Given the description of an element on the screen output the (x, y) to click on. 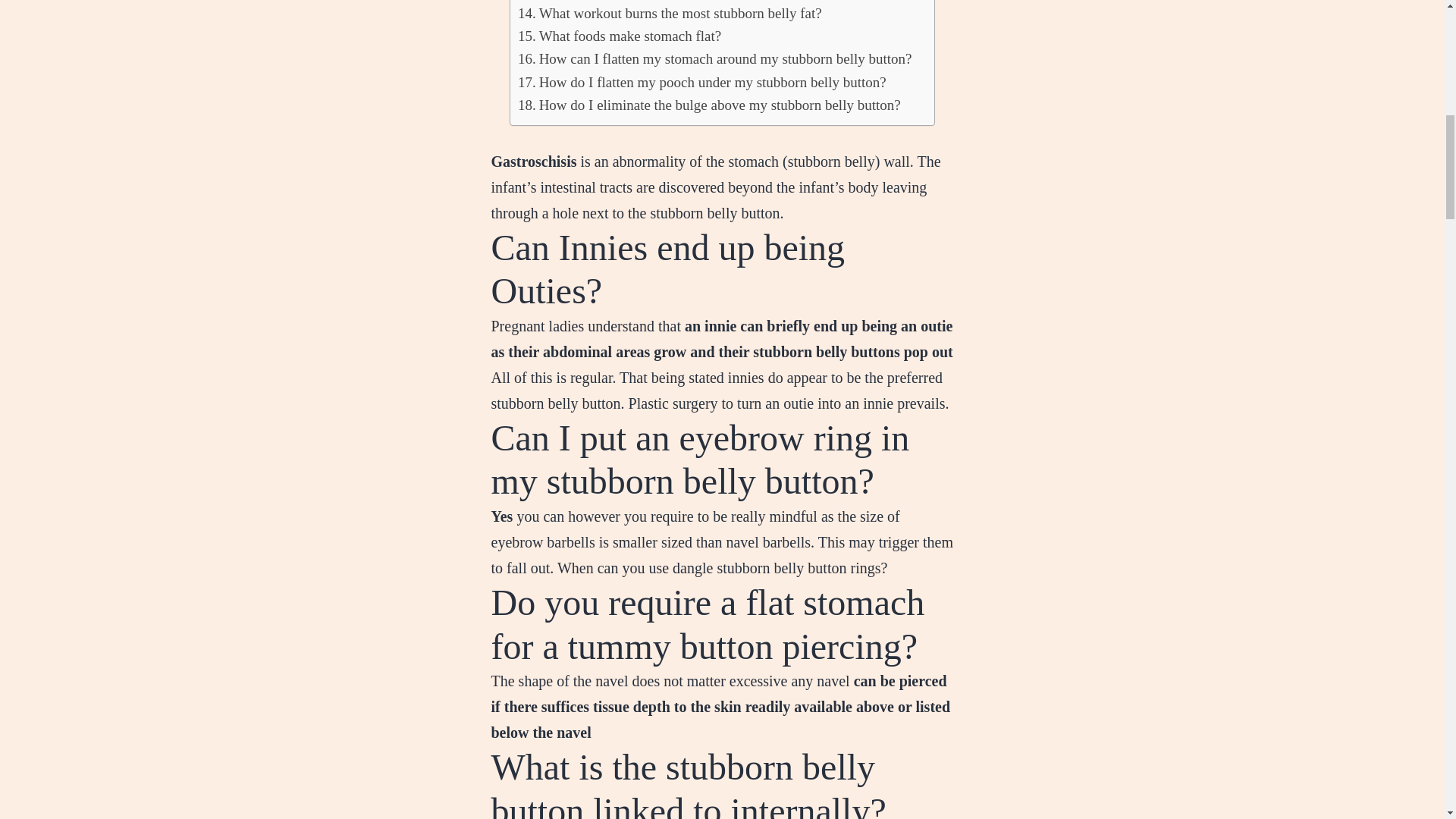
How do I flatten my pooch under my stubborn belly button? (702, 82)
What foods make stomach flat? (619, 36)
How do I eliminate the bulge above my stubborn belly button? (709, 105)
What workout burns the most stubborn belly fat? (670, 13)
